Given the description of an element on the screen output the (x, y) to click on. 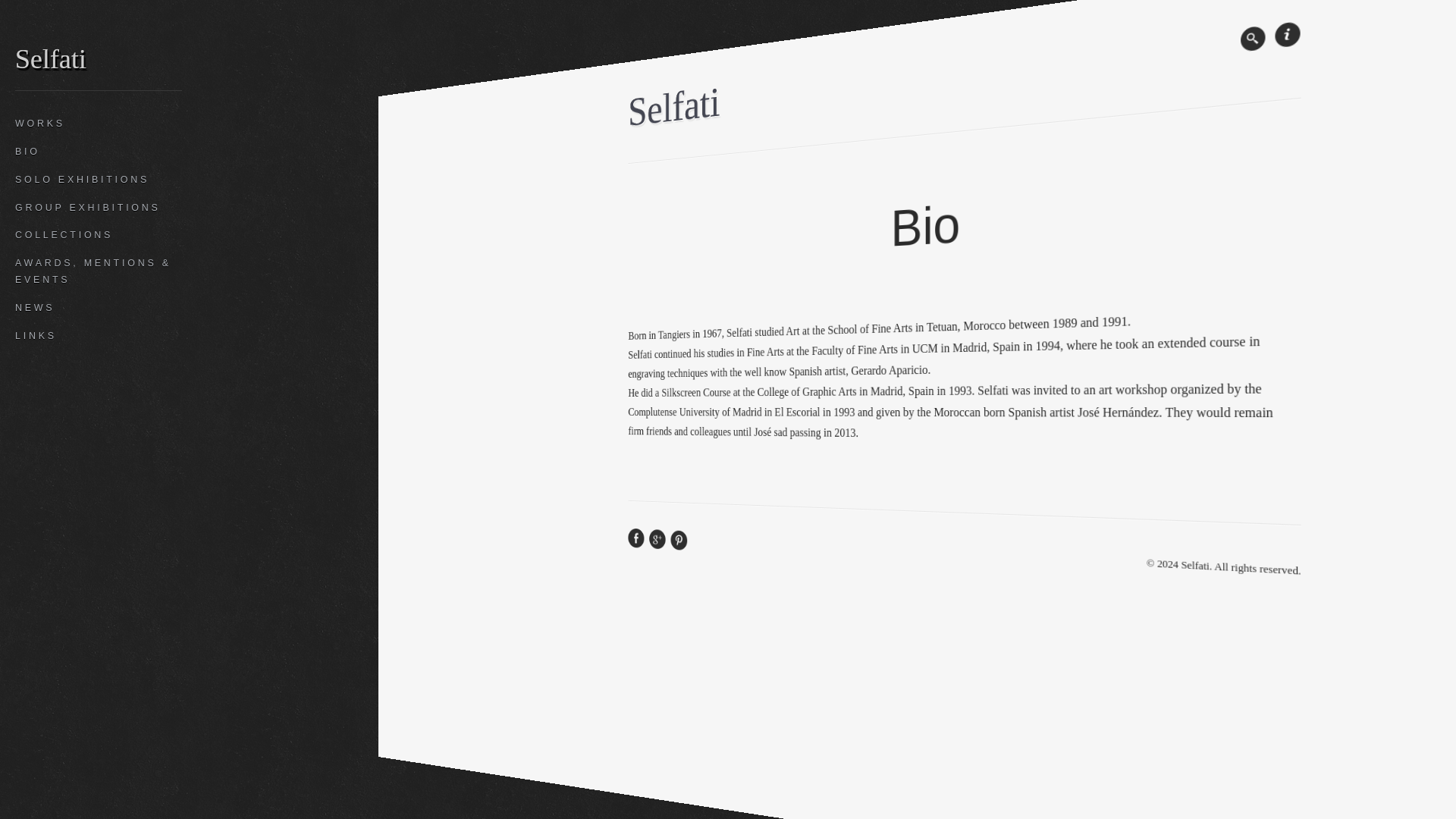
COLLECTIONS (98, 235)
NEWS (98, 308)
Selfati (686, 102)
Selfati (49, 55)
BIO (98, 152)
SOLO EXHIBITIONS (98, 180)
LINKS (98, 336)
GROUP EXHIBITIONS (98, 207)
WORKS (98, 123)
